Given the description of an element on the screen output the (x, y) to click on. 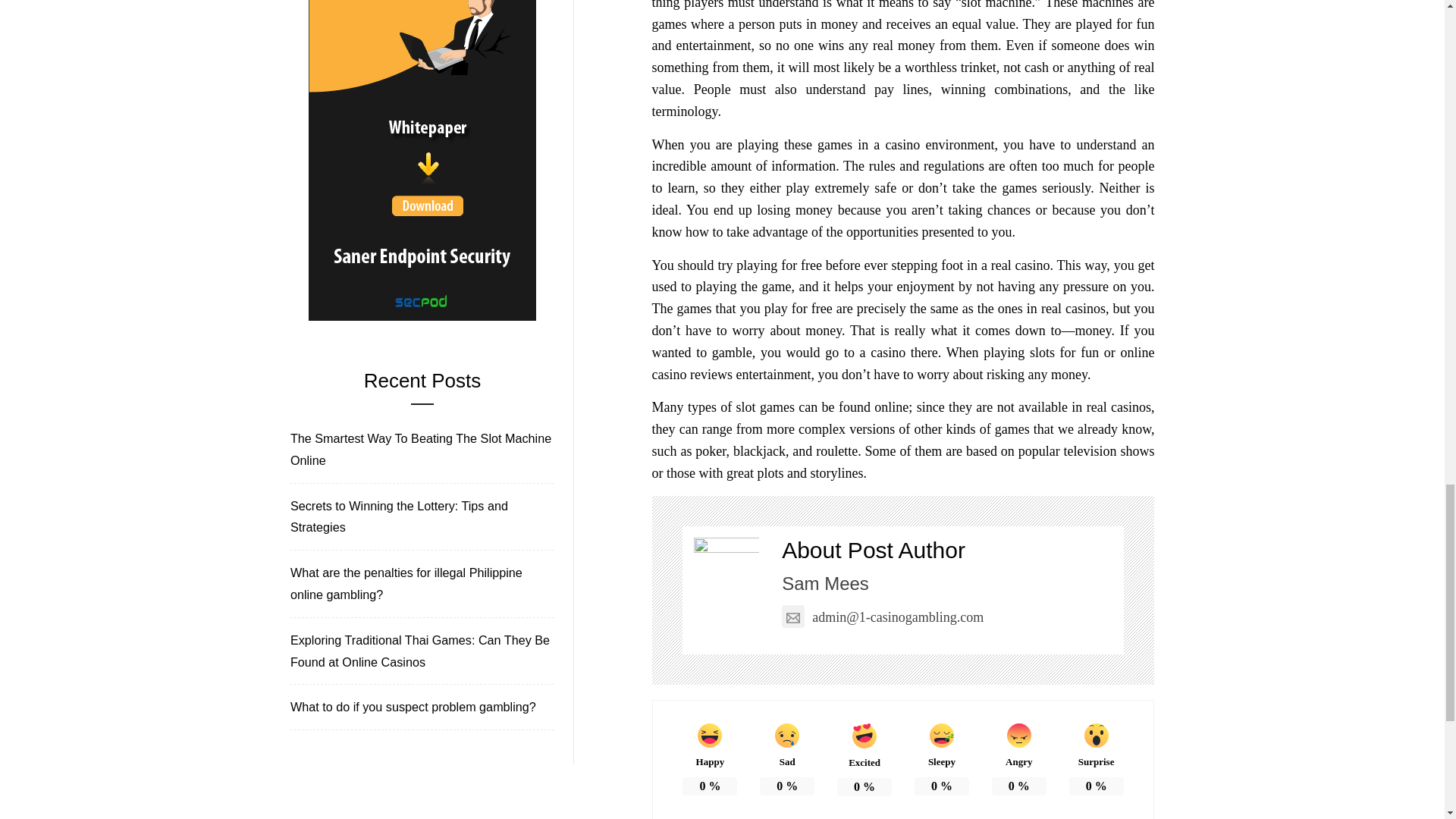
Sam Mees (825, 583)
